Given the description of an element on the screen output the (x, y) to click on. 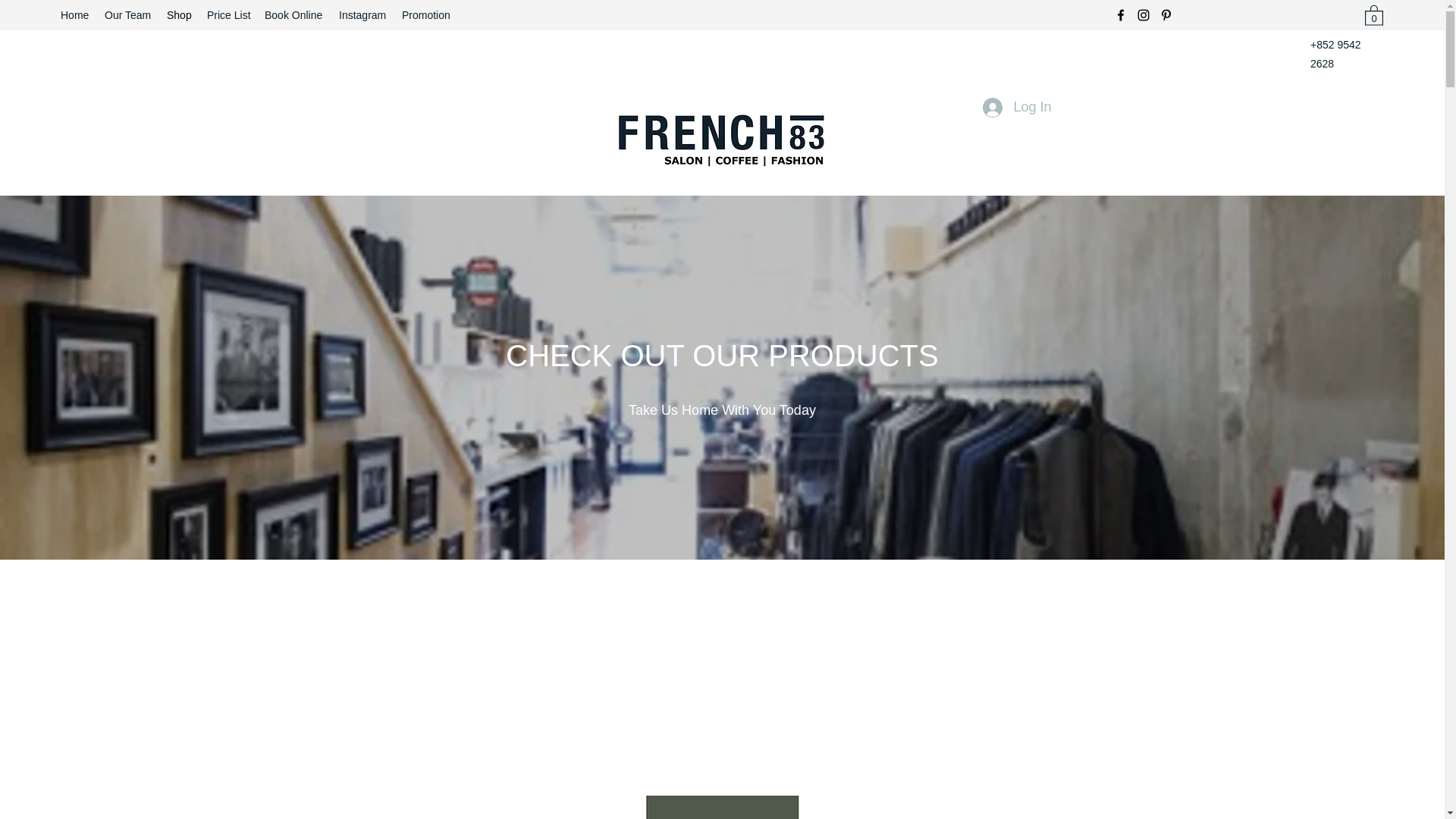
Log In (1016, 107)
Shop (178, 15)
Home (74, 15)
Book Online (294, 15)
Price List (228, 15)
Our Team (127, 15)
Promotion (426, 15)
Instagram (362, 15)
